Given the description of an element on the screen output the (x, y) to click on. 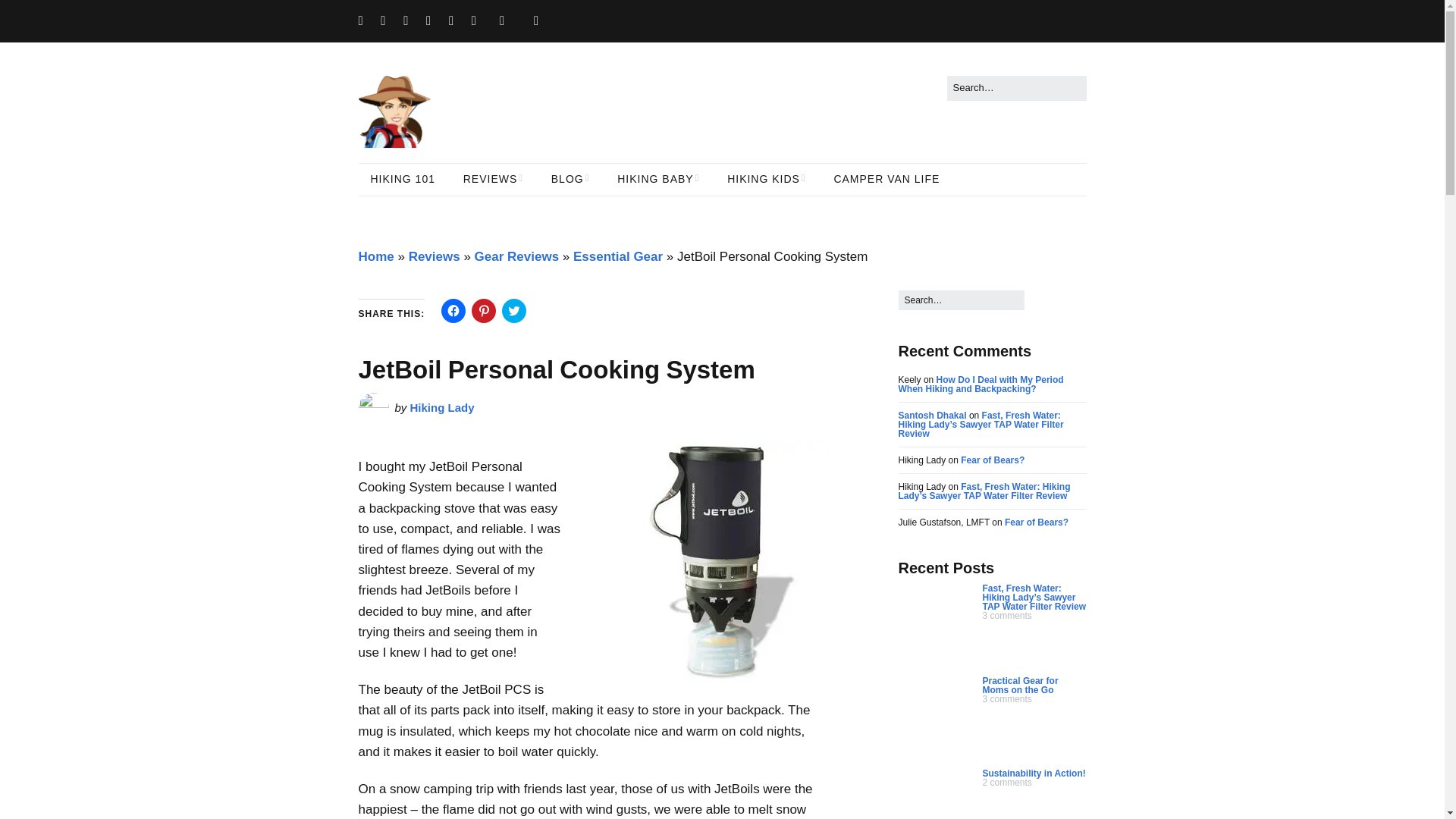
Click to share on Pinterest (483, 310)
REVIEWS (493, 179)
Reviews (434, 256)
Search (29, 15)
CAMPER VAN LIFE (886, 179)
Essential Gear (617, 256)
HIKING 101 (402, 179)
JetBoil Personal Cooking System  (706, 560)
Gear Reviews (516, 256)
Hiking Lady (442, 407)
Home (375, 256)
HIKING KIDS (766, 179)
HIKING BABY (658, 179)
Click to share on Twitter (513, 310)
